Given the description of an element on the screen output the (x, y) to click on. 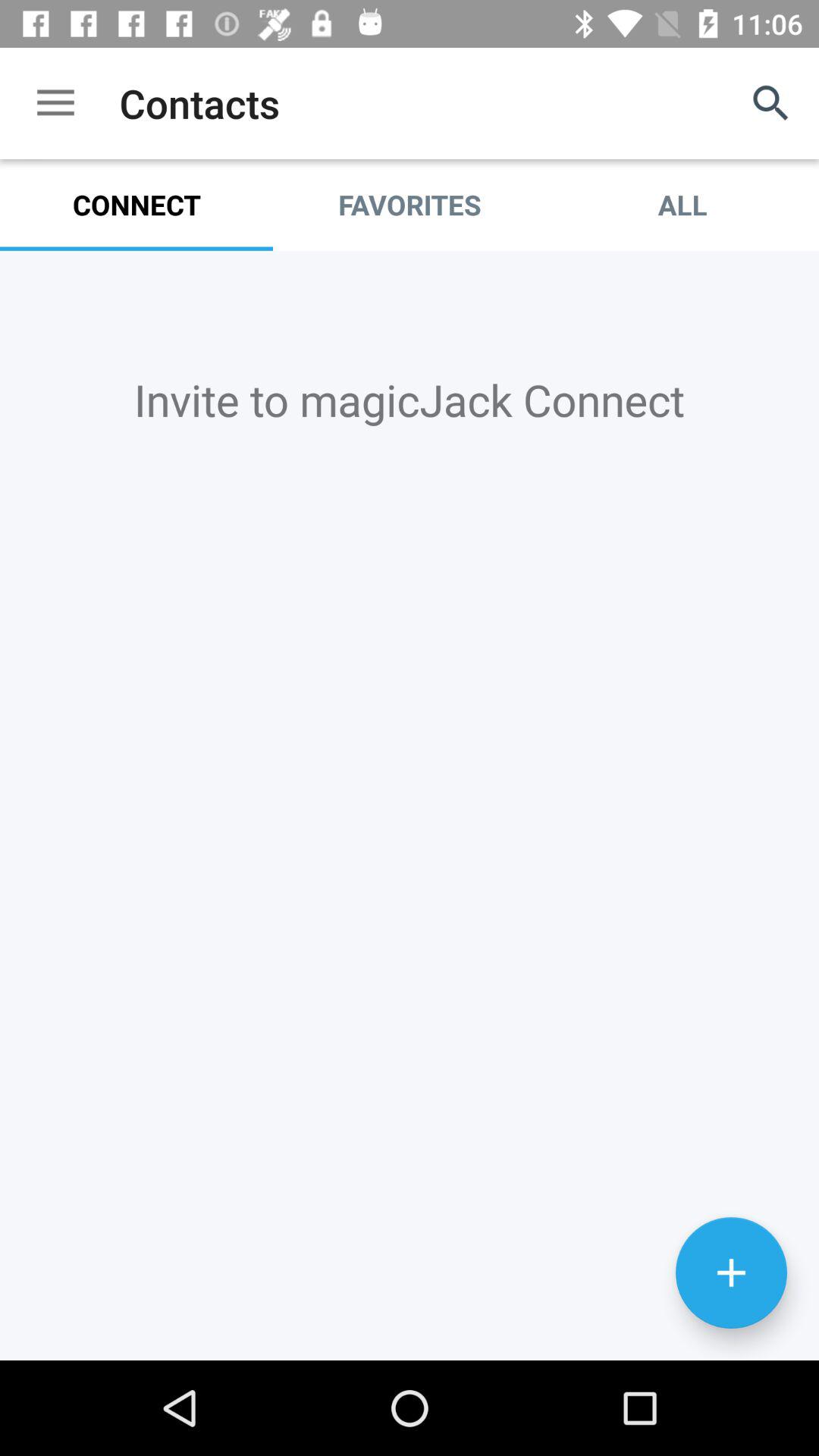
tap the icon at the bottom right corner (731, 1272)
